Given the description of an element on the screen output the (x, y) to click on. 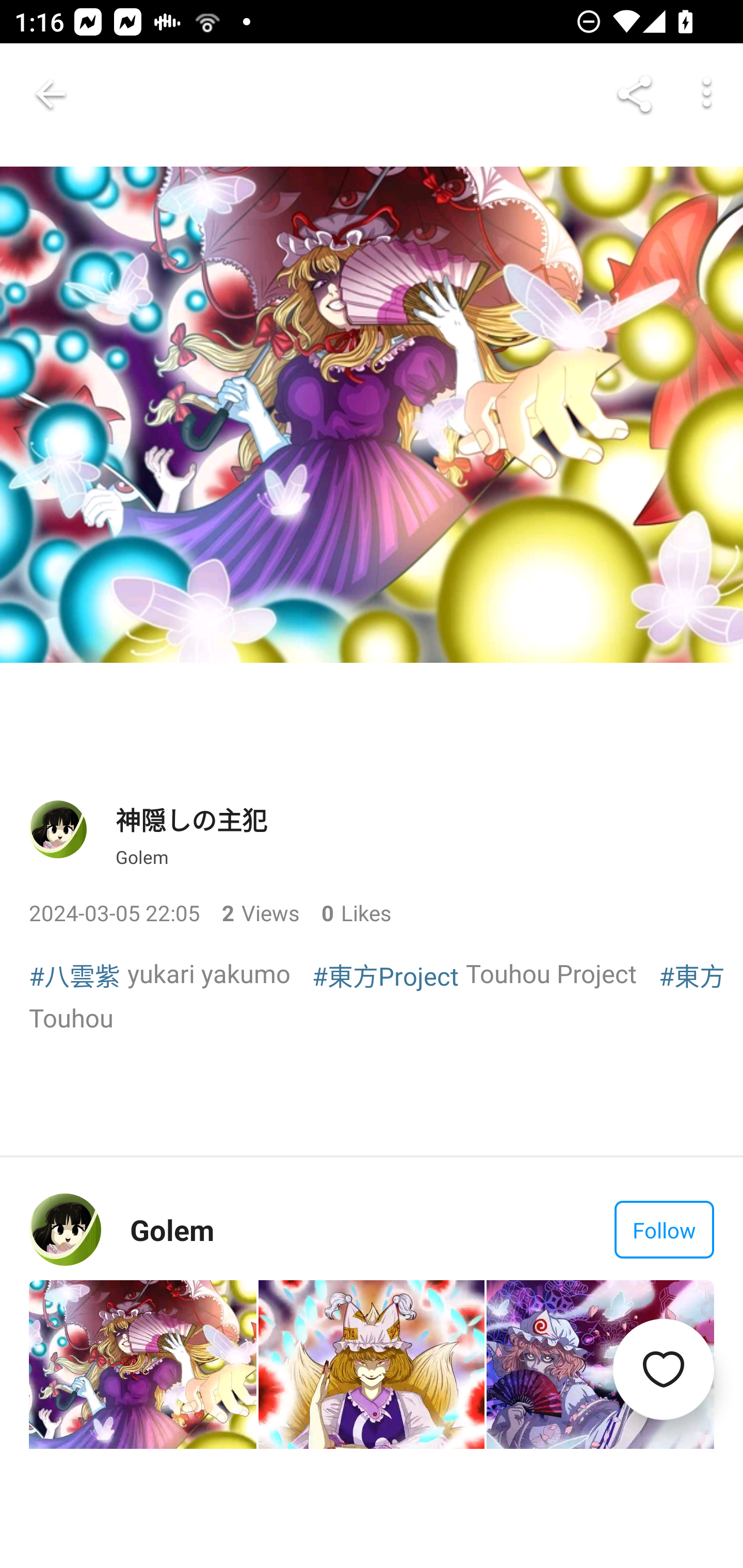
Share (634, 93)
More options (706, 93)
Golem (141, 856)
0 (320, 912)
#八雲紫 (74, 975)
yukari yakumo (208, 973)
#東方Project (385, 975)
Touhou Project (551, 973)
#東方 (692, 975)
Touhou (70, 1017)
Follow (664, 1230)
Golem (172, 1229)
